Given the description of an element on the screen output the (x, y) to click on. 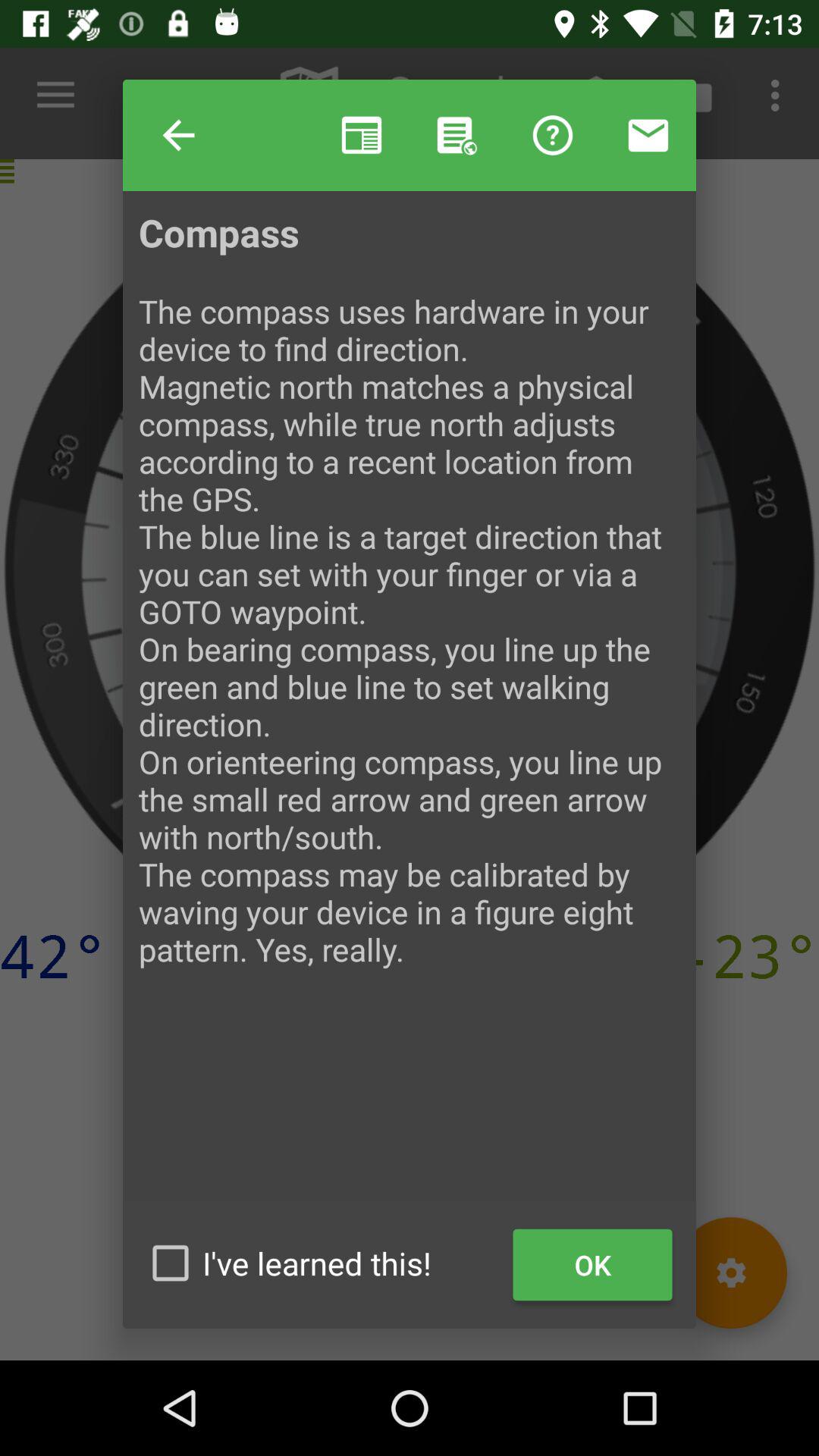
launch the ok icon (592, 1264)
